Given the description of an element on the screen output the (x, y) to click on. 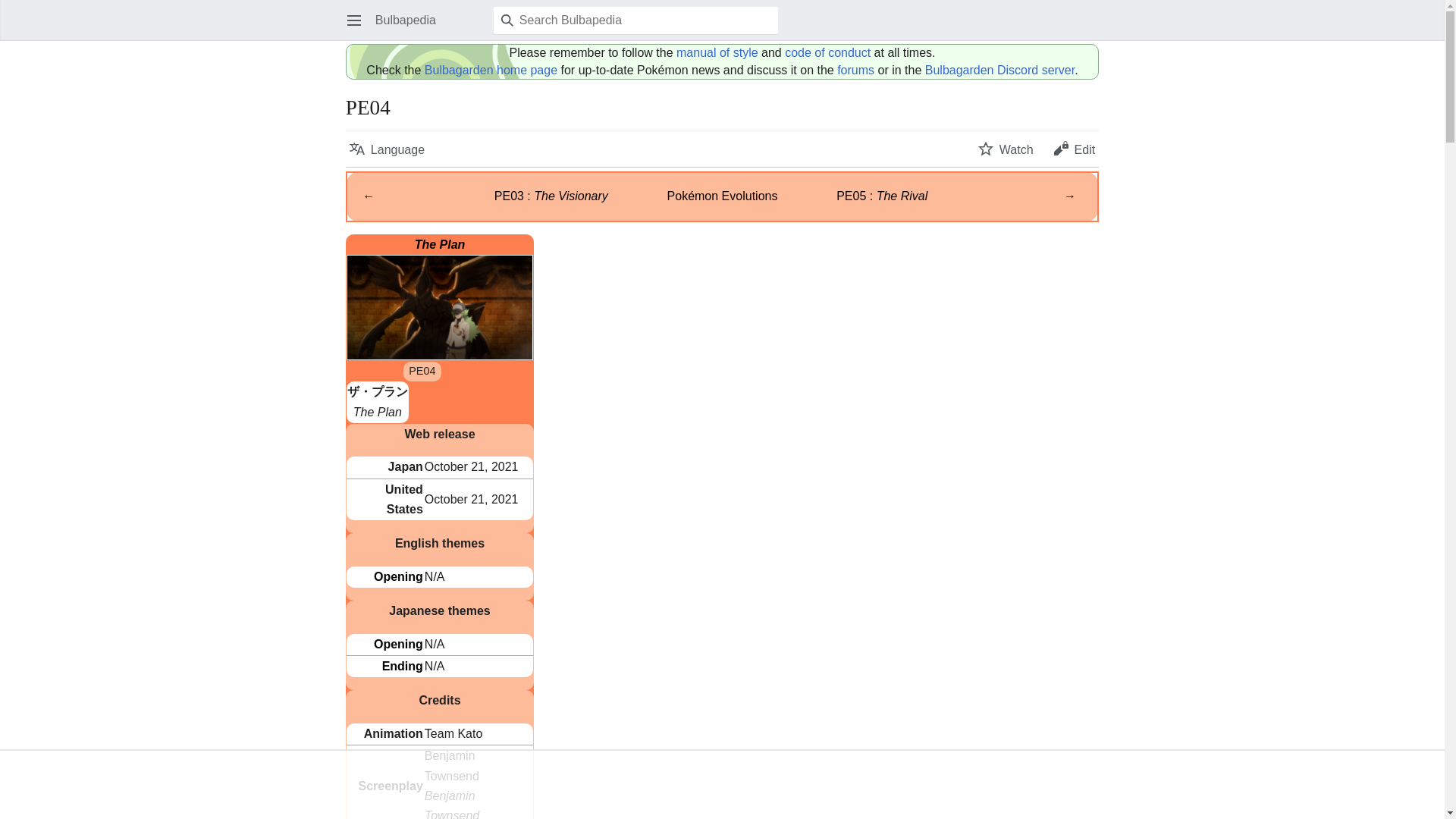
Bulbagarden Discord server (999, 69)
Bulbapedia:Manual of style (717, 51)
Ending (402, 666)
Open main menu (353, 20)
PE05 : The Rival (881, 195)
code of conduct (827, 51)
Watch (1005, 148)
PE03 : The Visionary (551, 195)
Language (386, 148)
List of English opening themes (398, 576)
Opening (398, 644)
forums (856, 69)
Bulbapedia:Code of conduct (827, 51)
Language (386, 148)
PE03 (368, 195)
